Given the description of an element on the screen output the (x, y) to click on. 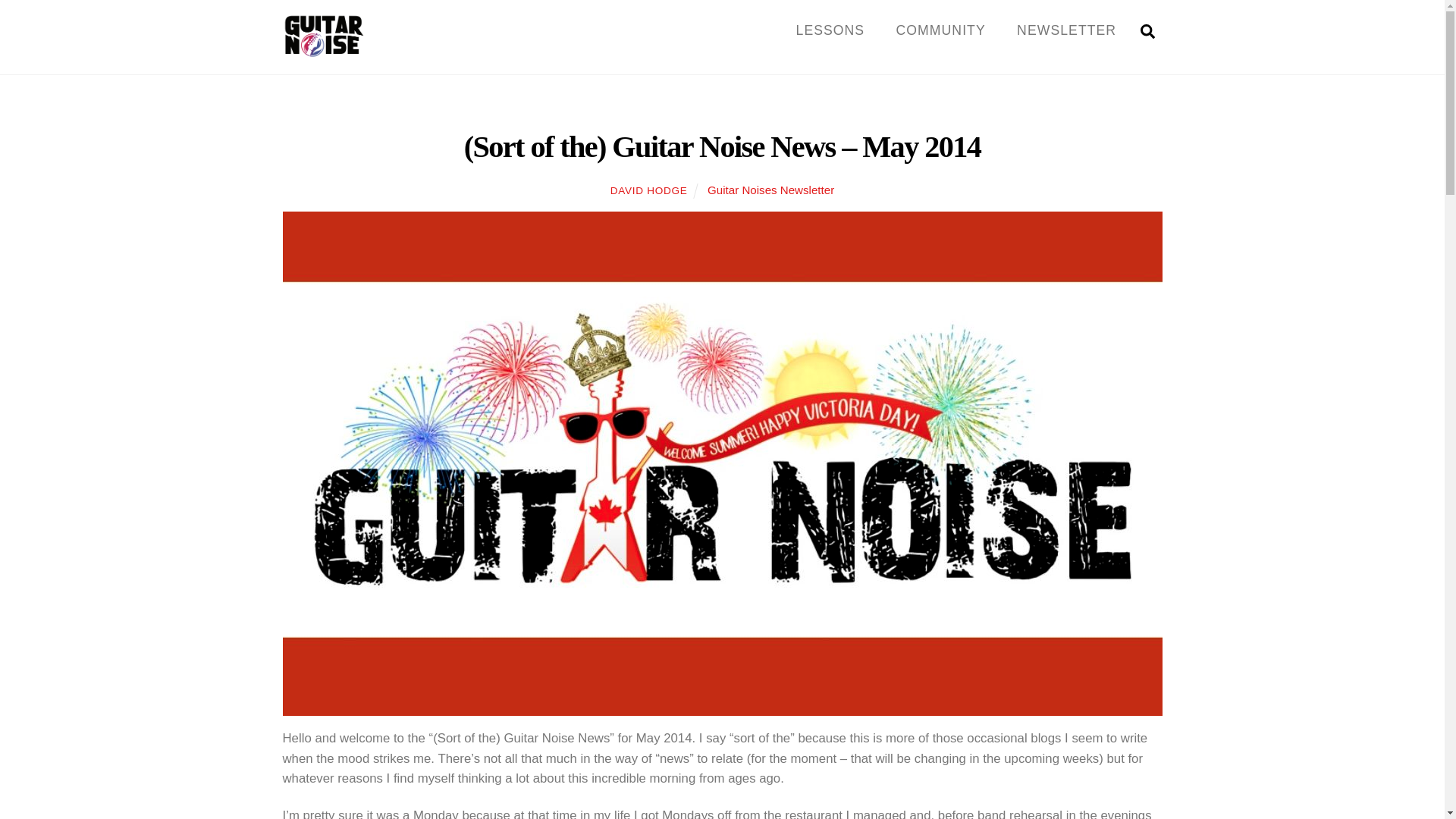
NEWSLETTER (1067, 31)
Guitar Noises Newsletter (770, 189)
COMMUNITY (940, 31)
LESSONS (829, 31)
DAVID HODGE (721, 31)
Guitar Noise (648, 190)
Search (323, 51)
